Given the description of an element on the screen output the (x, y) to click on. 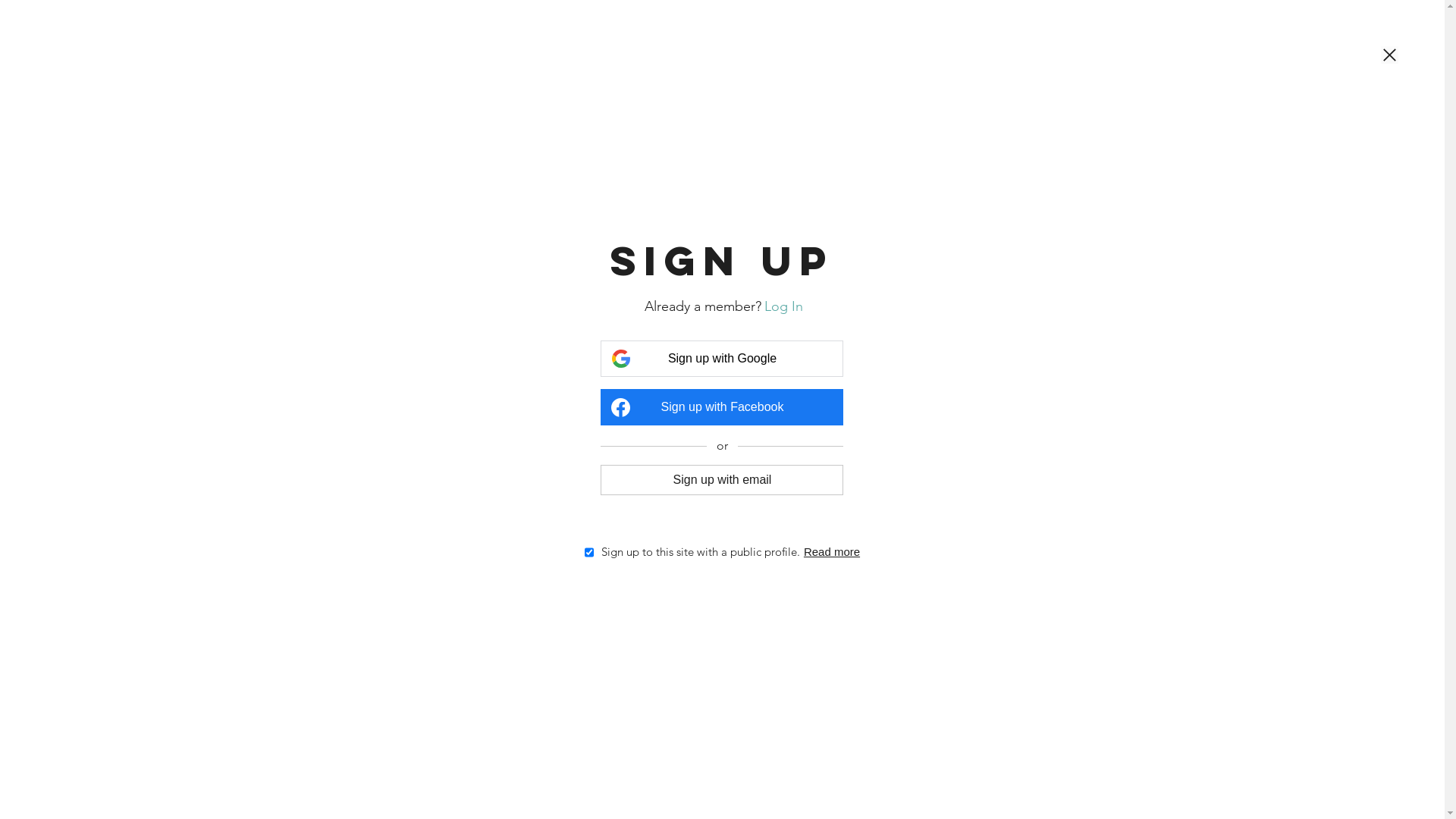
Sign up with Facebook Element type: text (721, 407)
Read more Element type: text (831, 551)
Sign up with Google Element type: text (721, 358)
Log In Element type: text (783, 306)
Sign up with email Element type: text (721, 479)
